Given the description of an element on the screen output the (x, y) to click on. 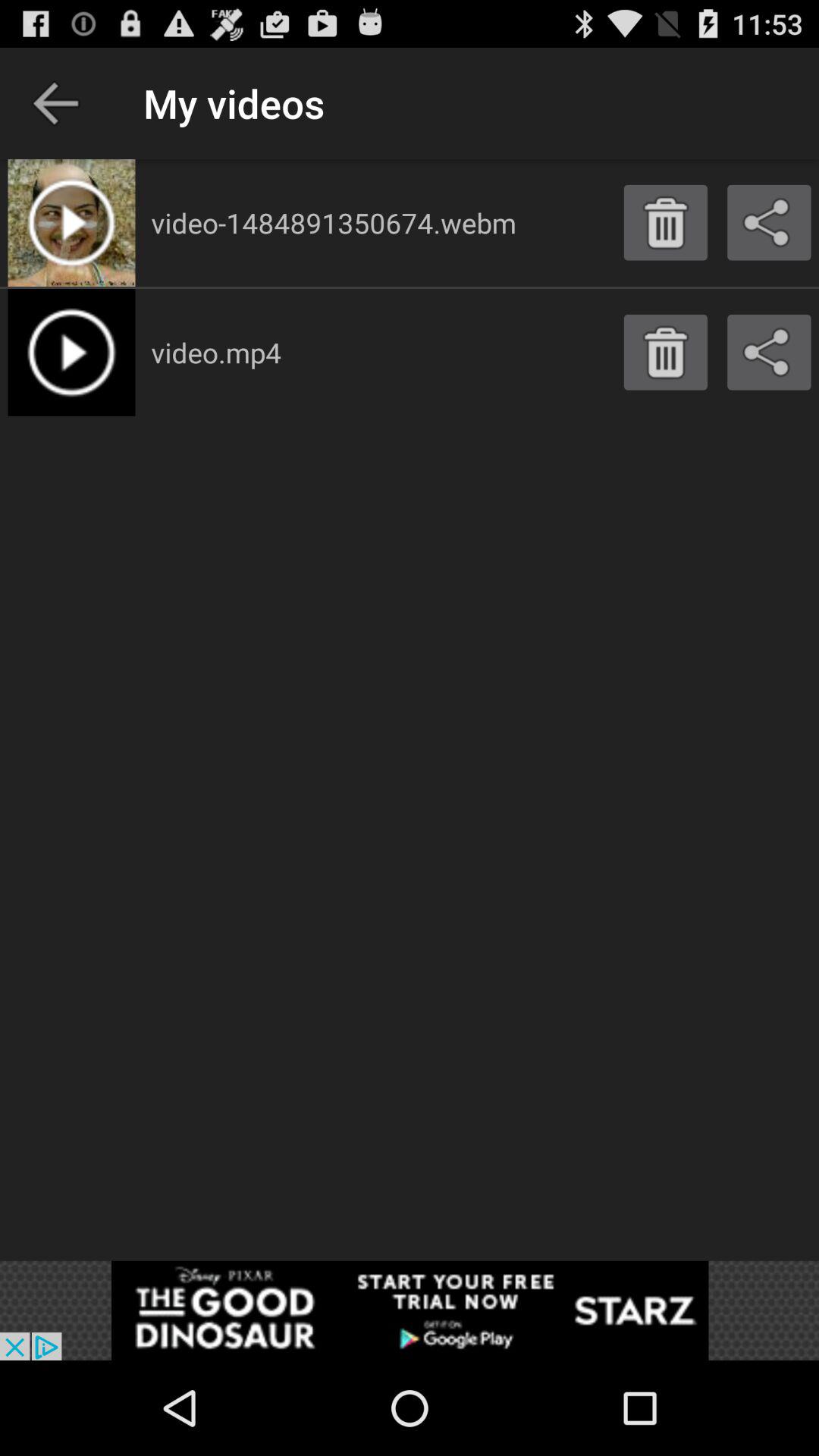
shows the previous option (55, 103)
